Given the description of an element on the screen output the (x, y) to click on. 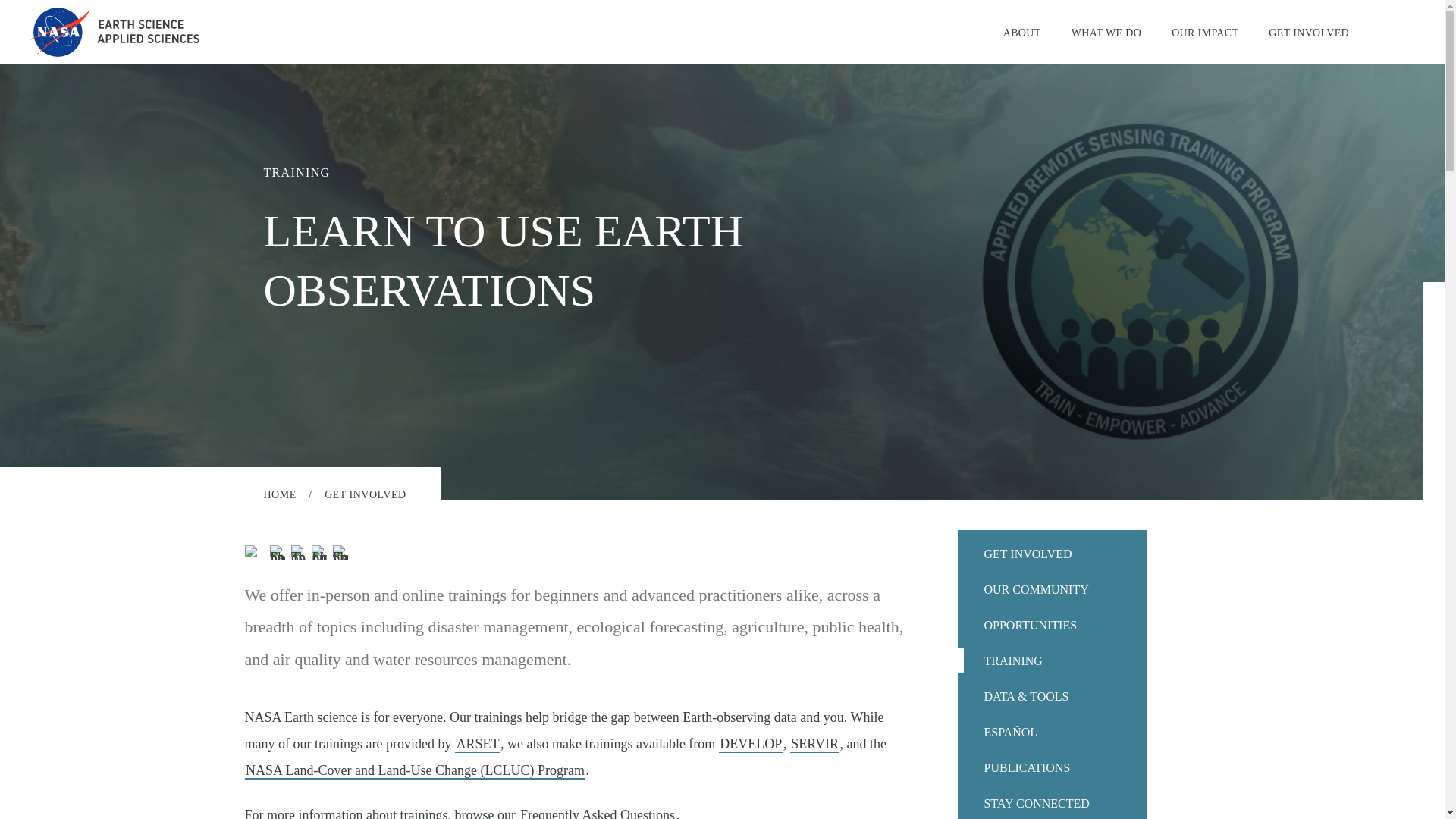
ABOUT (1022, 32)
WHAT WE DO (1106, 32)
Home (114, 31)
